Given the description of an element on the screen output the (x, y) to click on. 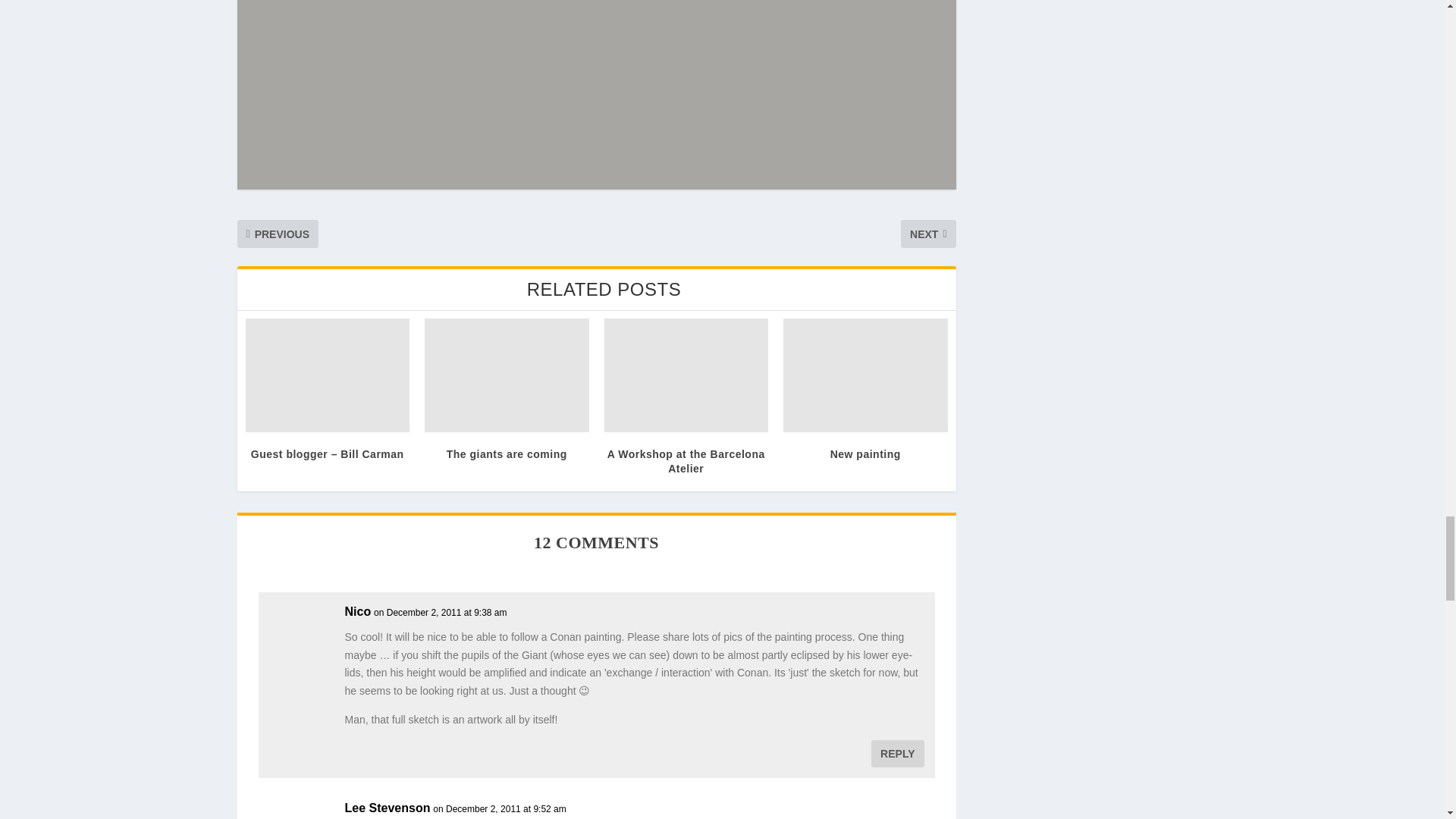
The giants are coming (507, 375)
A Workshop at the Barcelona Atelier (686, 375)
New painting (865, 375)
